Given the description of an element on the screen output the (x, y) to click on. 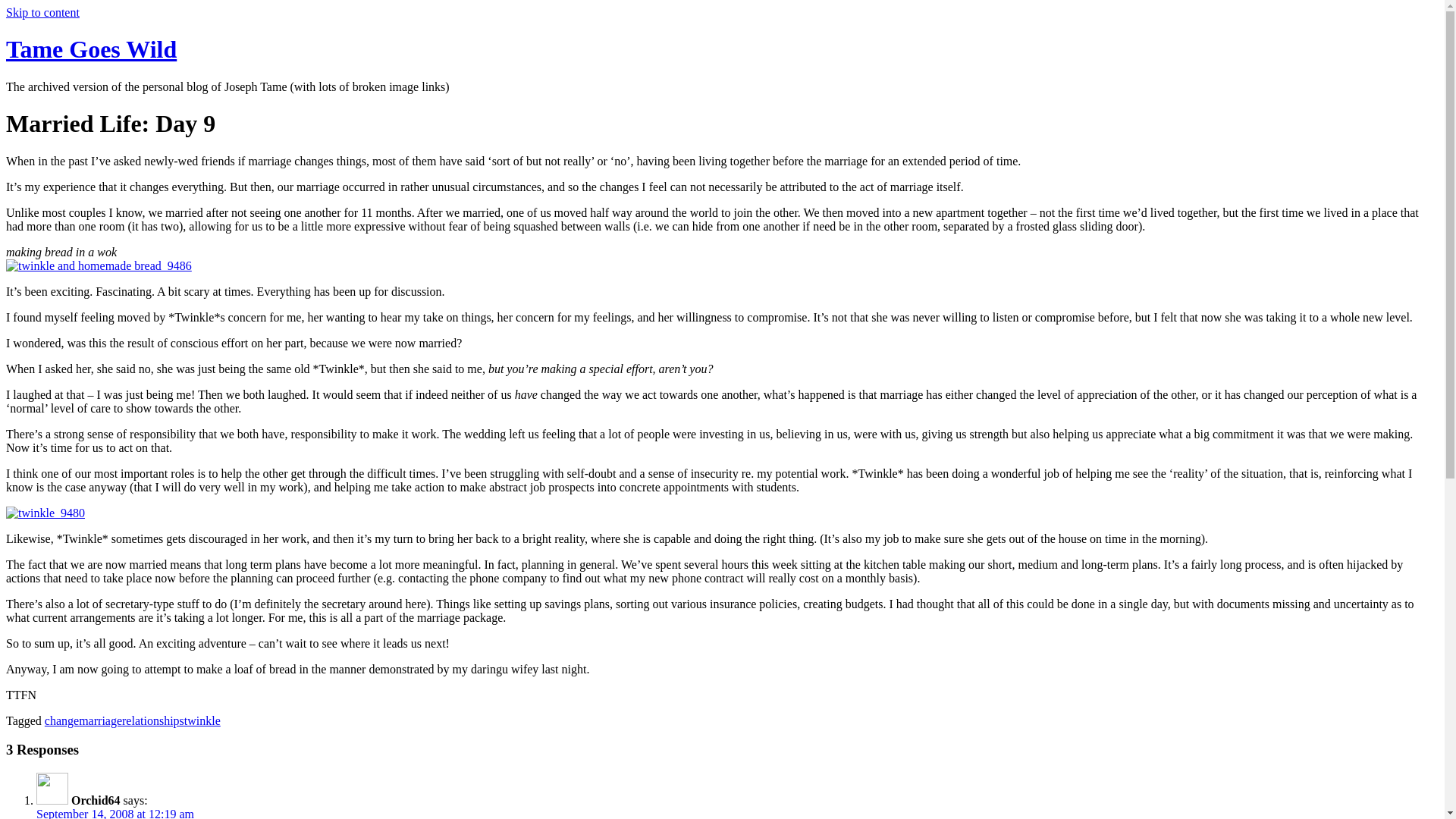
Skip to content (42, 11)
marriage (100, 720)
Home (90, 49)
relationships (153, 720)
Tame Goes Wild (90, 49)
change (61, 720)
twinkle (202, 720)
September 14, 2008 at 12:19 am (114, 813)
